Given the description of an element on the screen output the (x, y) to click on. 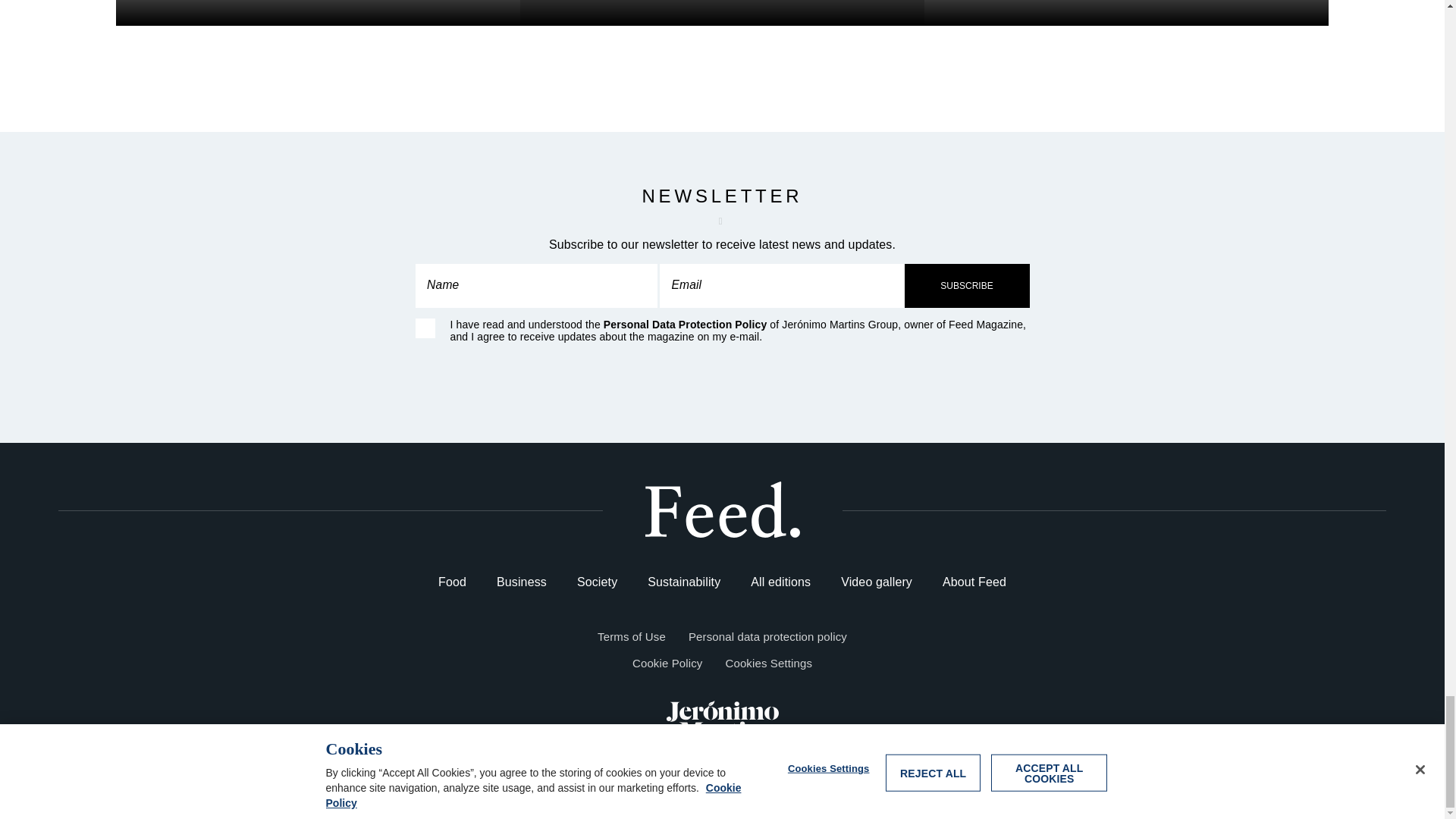
Still Roots Run Deep (317, 12)
The Almanac, a window of society (721, 13)
Willing to Believe (1125, 12)
Subscribe (966, 285)
1 (424, 328)
